Given the description of an element on the screen output the (x, y) to click on. 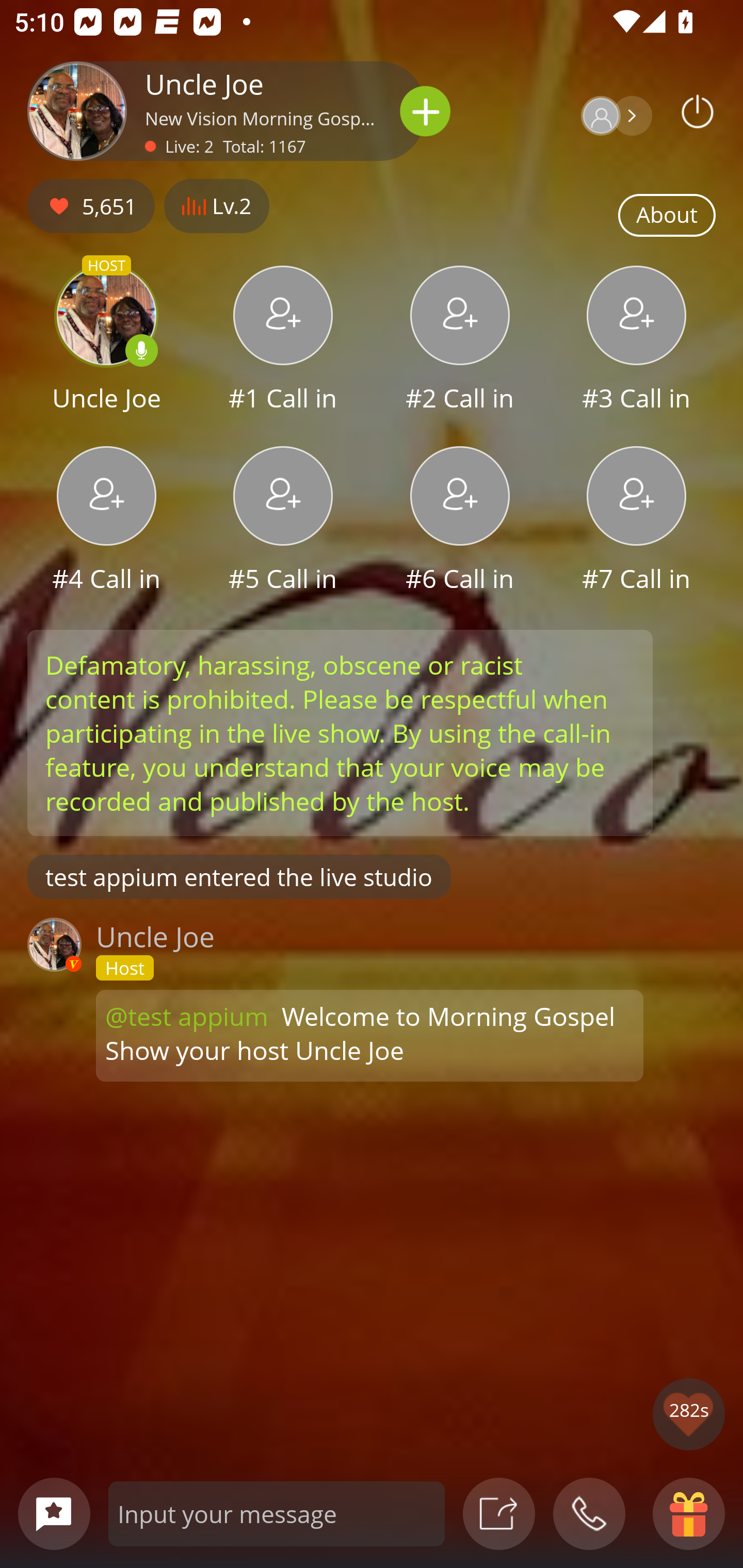
Podbean (697, 111)
About (666, 215)
HOST Uncle Joe (105, 340)
#1 Call in (282, 340)
#2 Call in (459, 340)
#3 Call in (636, 340)
#4 Call in (105, 521)
#5 Call in (282, 521)
#6 Call in (459, 521)
#7 Call in (636, 521)
Input your message (276, 1513)
